Given the description of an element on the screen output the (x, y) to click on. 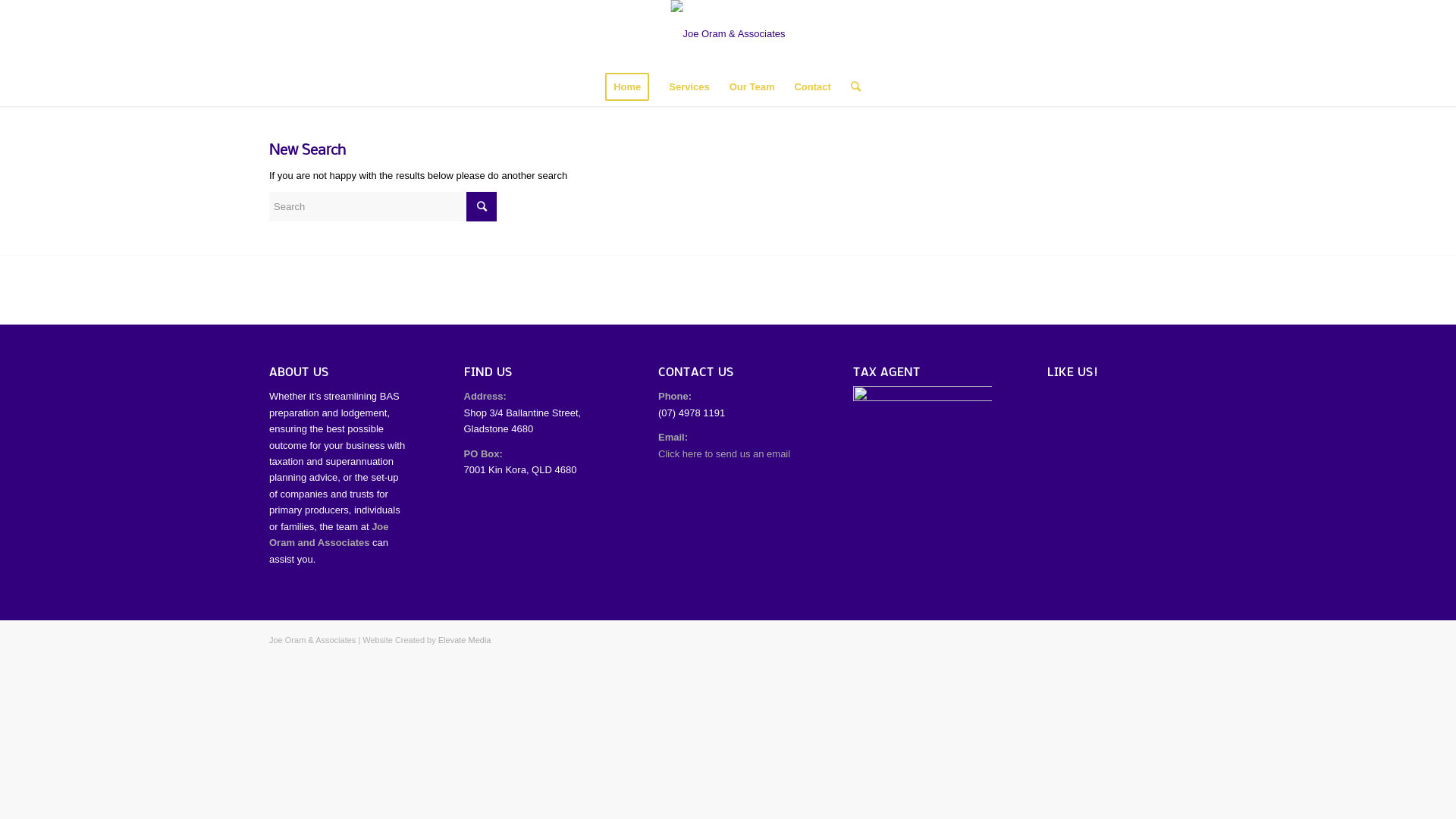
Elevate Media Element type: text (464, 639)
Click here to send us an email Element type: text (724, 453)
Our Team Element type: text (751, 87)
Contact Element type: text (812, 87)
Services Element type: text (688, 87)
Home Element type: text (626, 87)
